Given the description of an element on the screen output the (x, y) to click on. 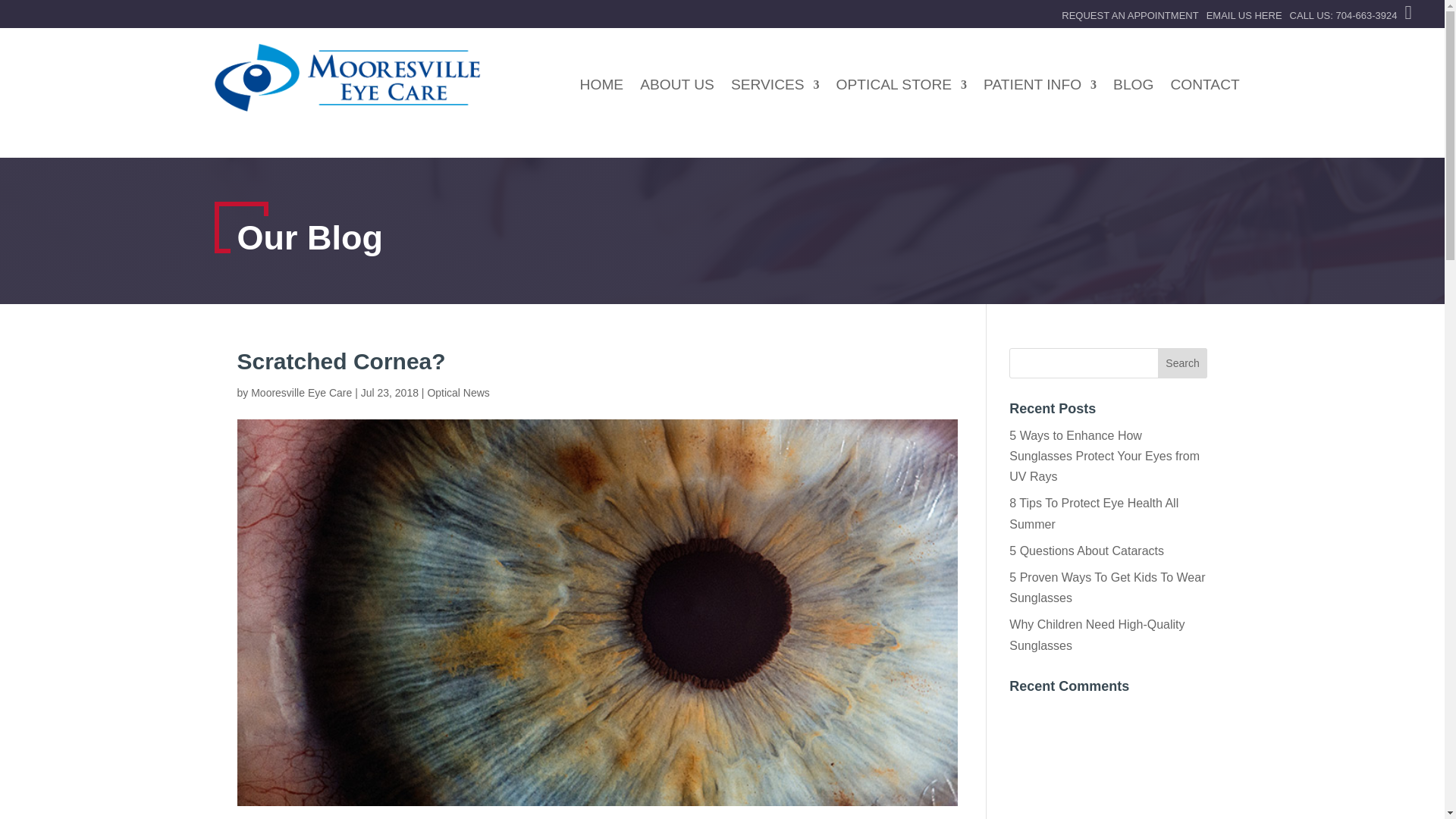
Search (1182, 363)
HOME (601, 87)
ABOUT US (677, 87)
OPTICAL STORE (900, 87)
PATIENT INFO (1040, 87)
SERVICES (774, 87)
BLOG (1133, 87)
CONTACT (1204, 87)
Posts by Mooresville Eye Care (301, 392)
